Given the description of an element on the screen output the (x, y) to click on. 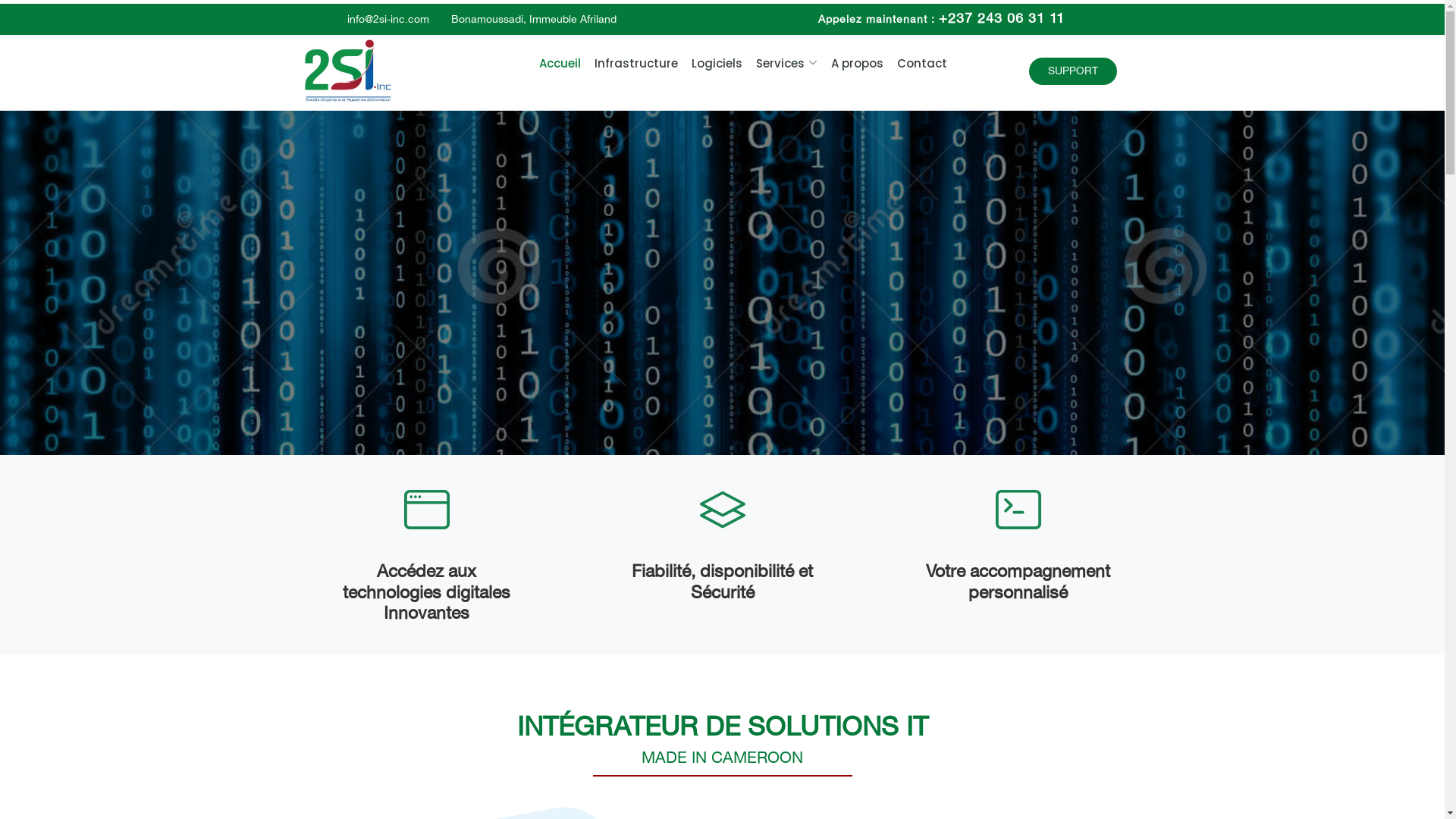
Accueil Element type: text (552, 63)
Infrastructure Element type: text (628, 63)
Contact Element type: text (915, 63)
info@2si-inc.com Element type: text (388, 18)
Appelez maintenant : +237 243 06 31 11 Element type: text (940, 18)
A propos Element type: text (850, 63)
SUPPORT Element type: text (1072, 70)
Services Element type: text (779, 63)
Logiciels Element type: text (709, 63)
